Given the description of an element on the screen output the (x, y) to click on. 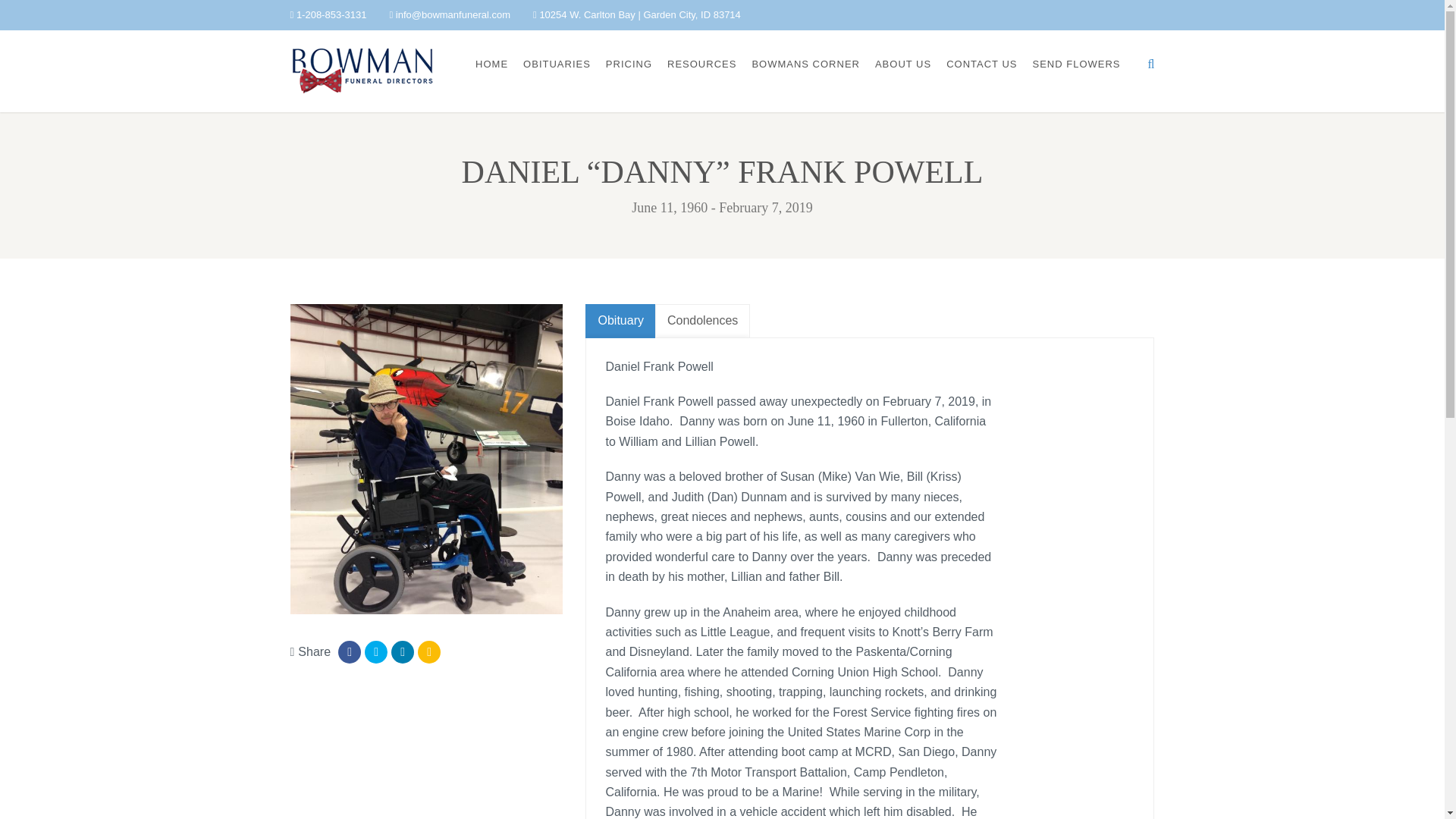
CONTACT US (981, 64)
BOWMANS CORNER (805, 64)
Email (429, 651)
SEND FLOWERS (1075, 64)
Tweet (376, 651)
Condolences (702, 320)
RESOURCES (701, 64)
Obituary (620, 320)
Share on Facebook (349, 651)
Share on Linkedin (402, 651)
